Given the description of an element on the screen output the (x, y) to click on. 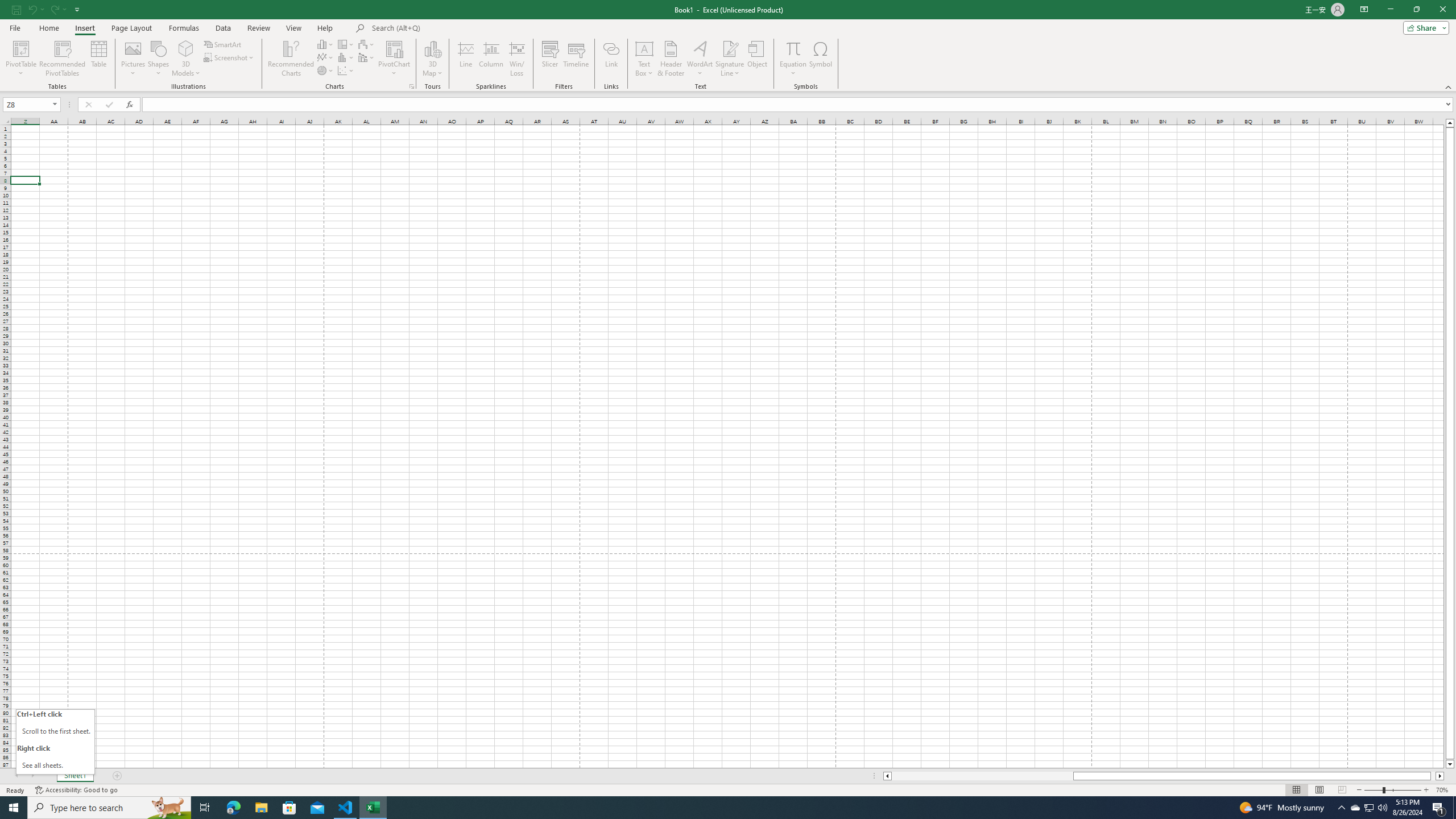
Recommended PivotTables (62, 58)
PivotTable (20, 48)
Class: MsoCommandBar (728, 45)
Insert Line or Area Chart (325, 56)
WordArt (699, 58)
Signature Line (729, 48)
Page left (982, 775)
